Given the description of an element on the screen output the (x, y) to click on. 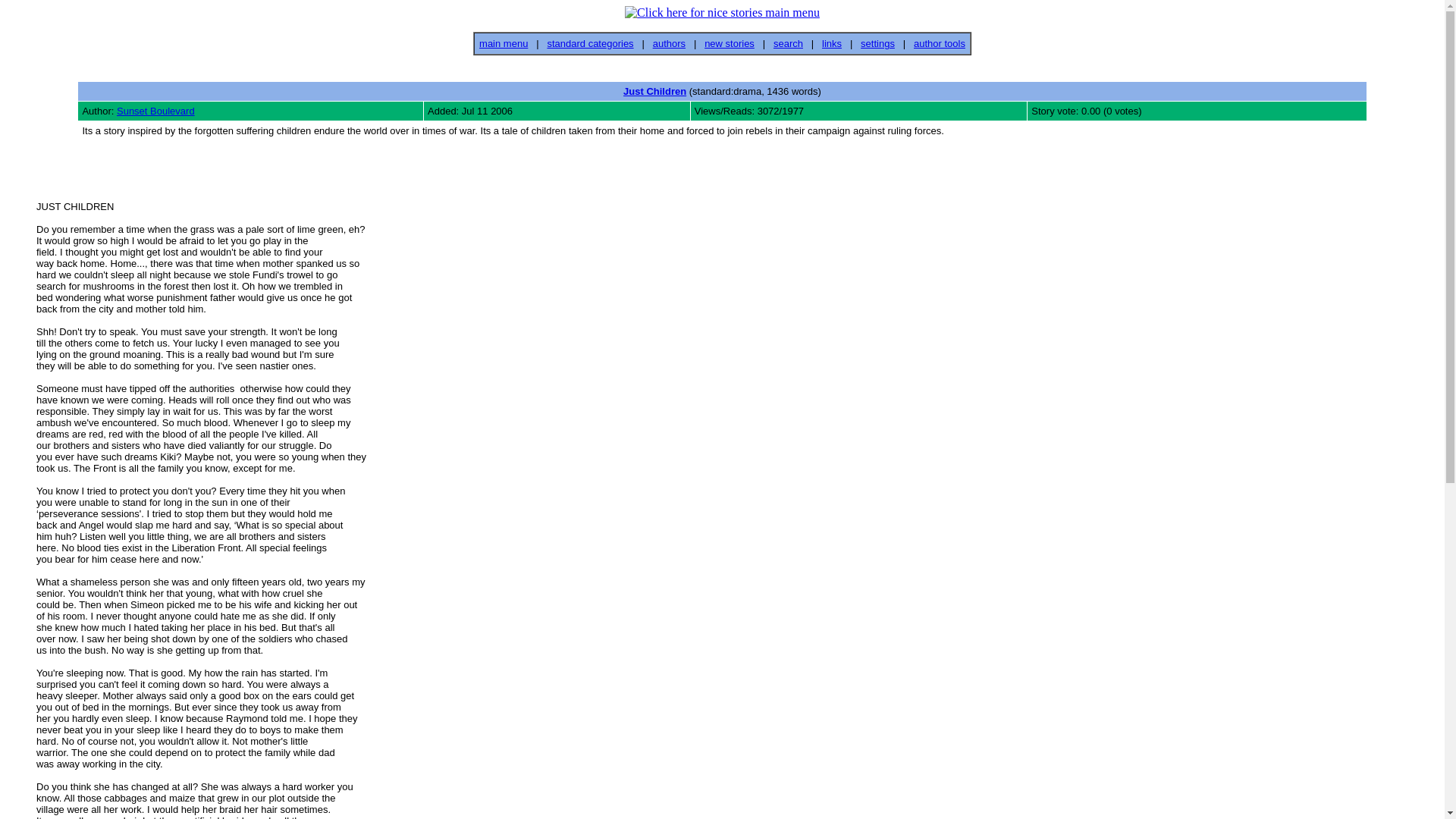
links (831, 43)
settings (877, 43)
Sunset Boulevard (155, 111)
new stories (729, 43)
authors (668, 43)
search (788, 43)
standard categories (590, 43)
author tools (939, 43)
Just Children (654, 91)
main menu (503, 43)
